Given the description of an element on the screen output the (x, y) to click on. 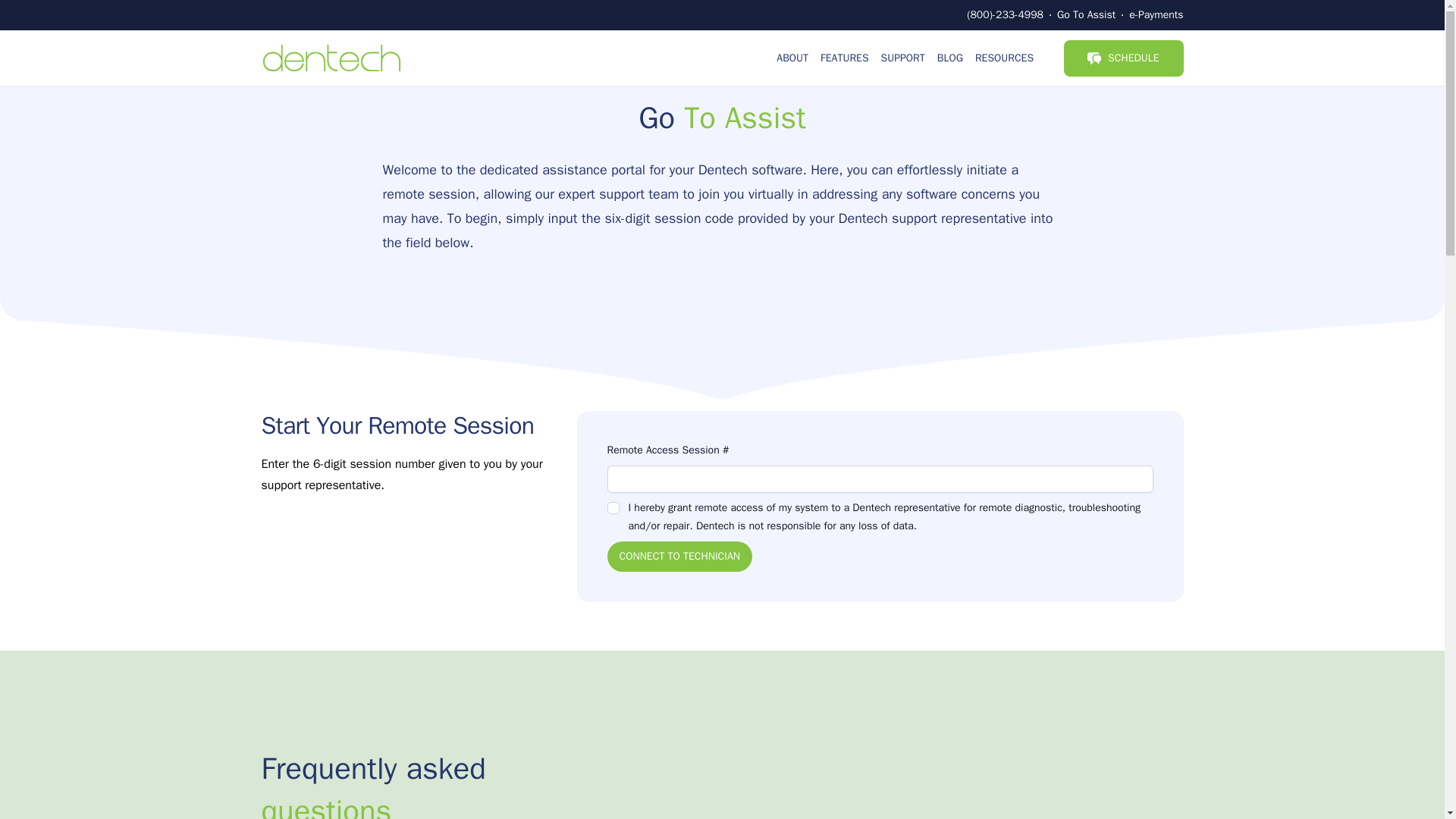
on (612, 508)
BLOG (950, 57)
SCHEDULE (1123, 57)
FEATURES (844, 57)
ABOUT (791, 57)
e-Payments (1155, 14)
SUPPORT (903, 57)
Go To Assist (1086, 14)
CONNECT TO TECHNICIAN (679, 556)
RESOURCES (1004, 57)
